Given the description of an element on the screen output the (x, y) to click on. 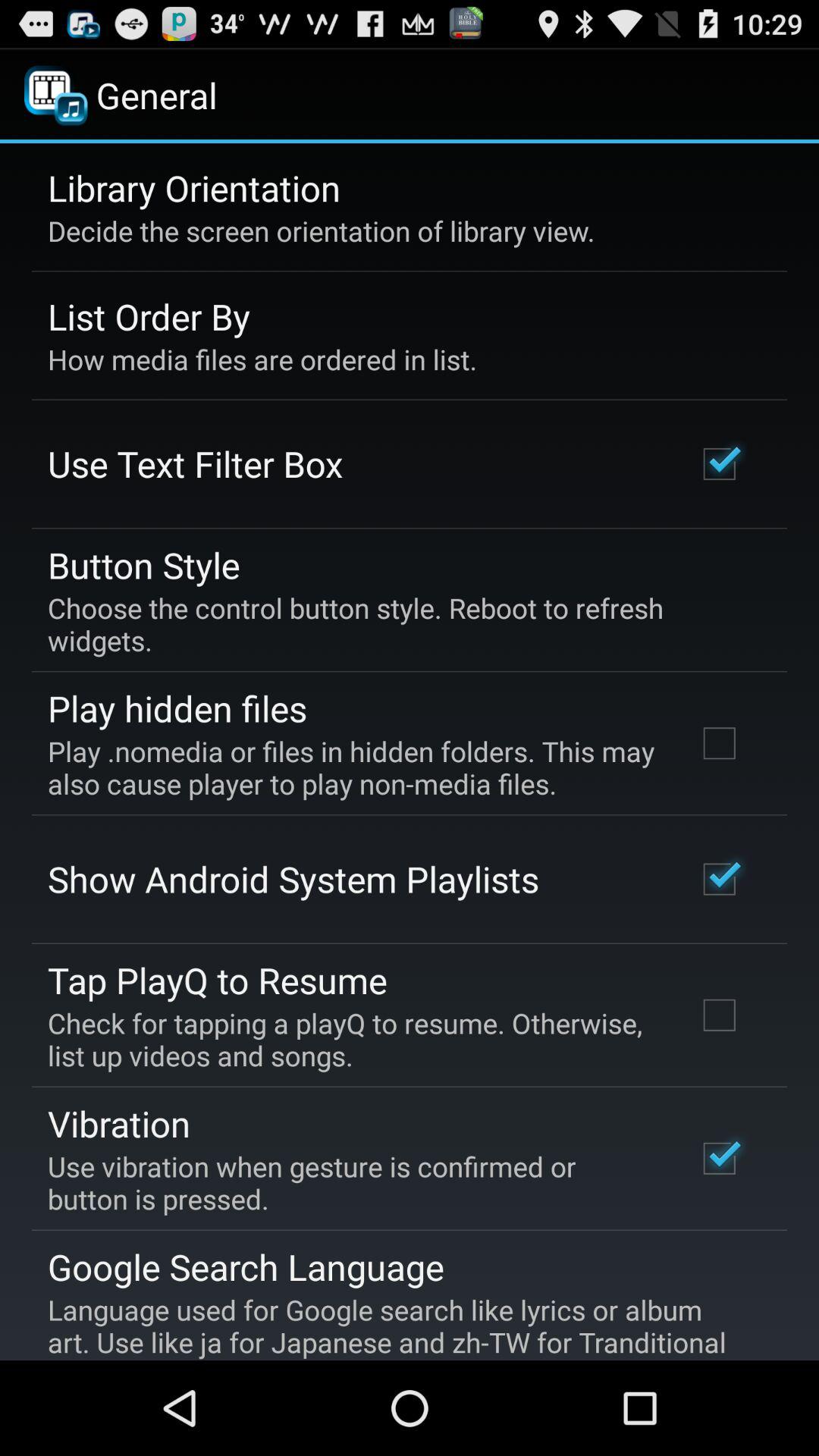
click on the check box which is beside tap playq to resume (719, 1015)
